Given the description of an element on the screen output the (x, y) to click on. 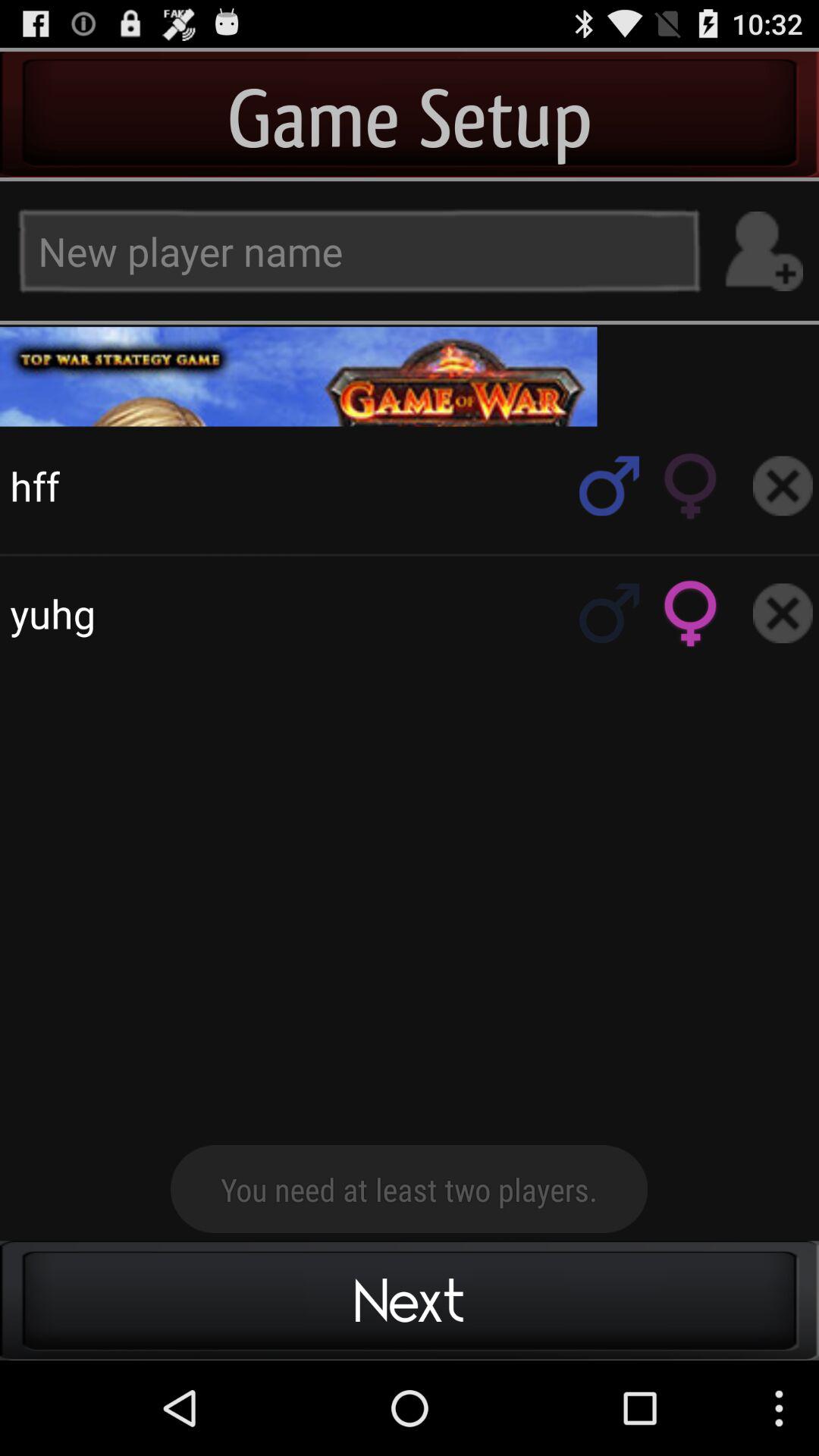
female (690, 613)
